Given the description of an element on the screen output the (x, y) to click on. 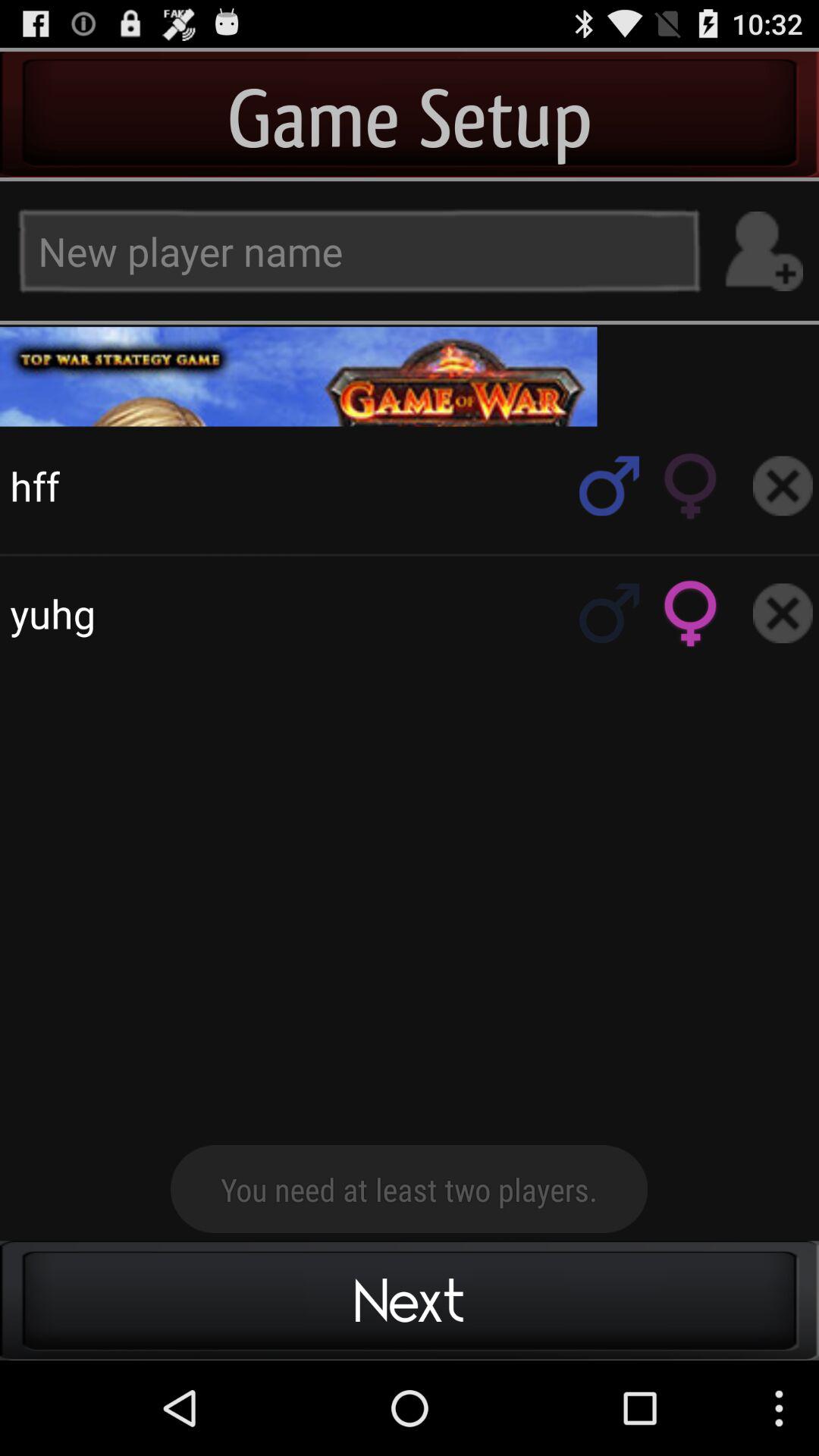
female (690, 613)
